Given the description of an element on the screen output the (x, y) to click on. 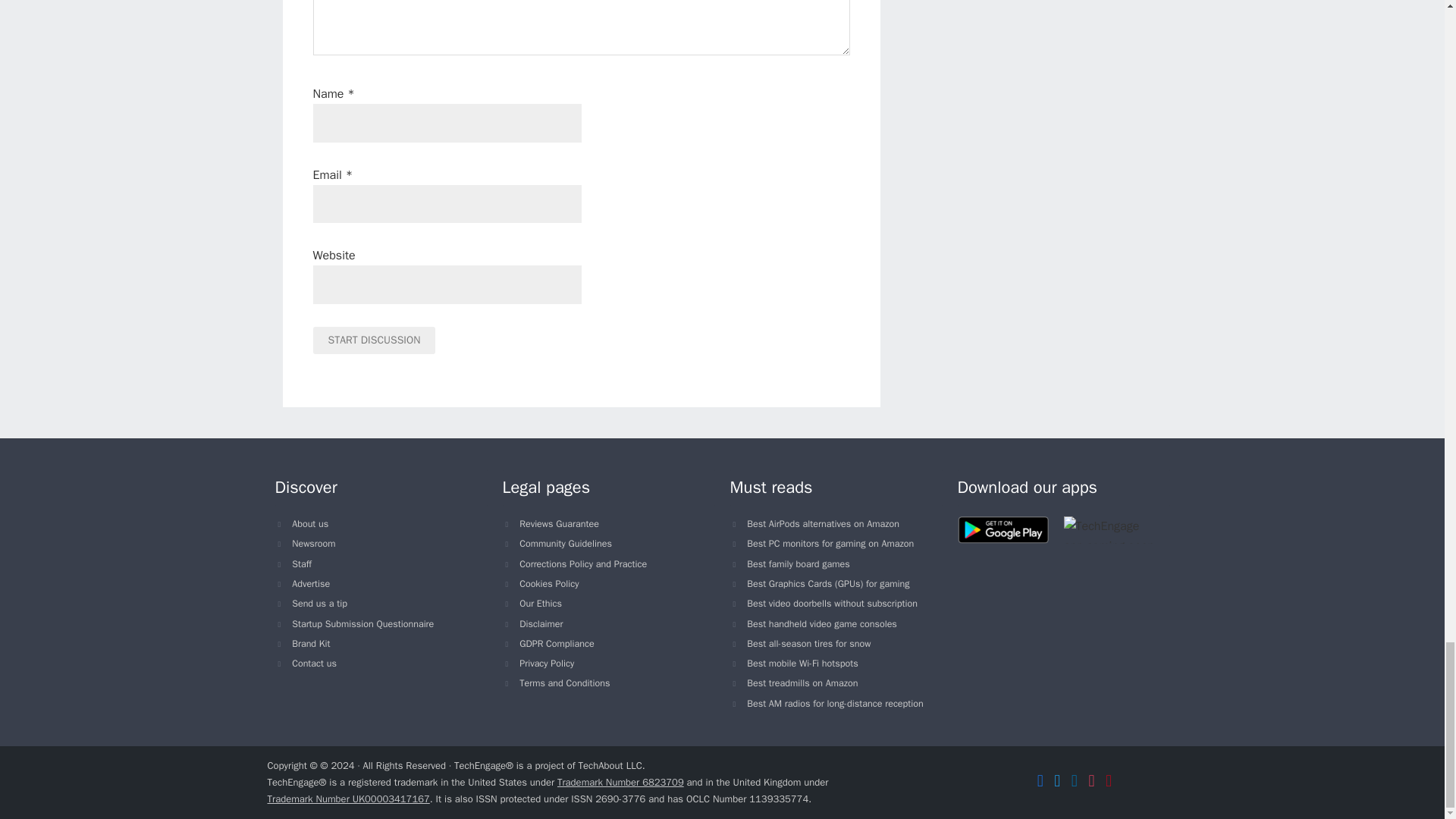
Start Discussion (374, 339)
